Given the description of an element on the screen output the (x, y) to click on. 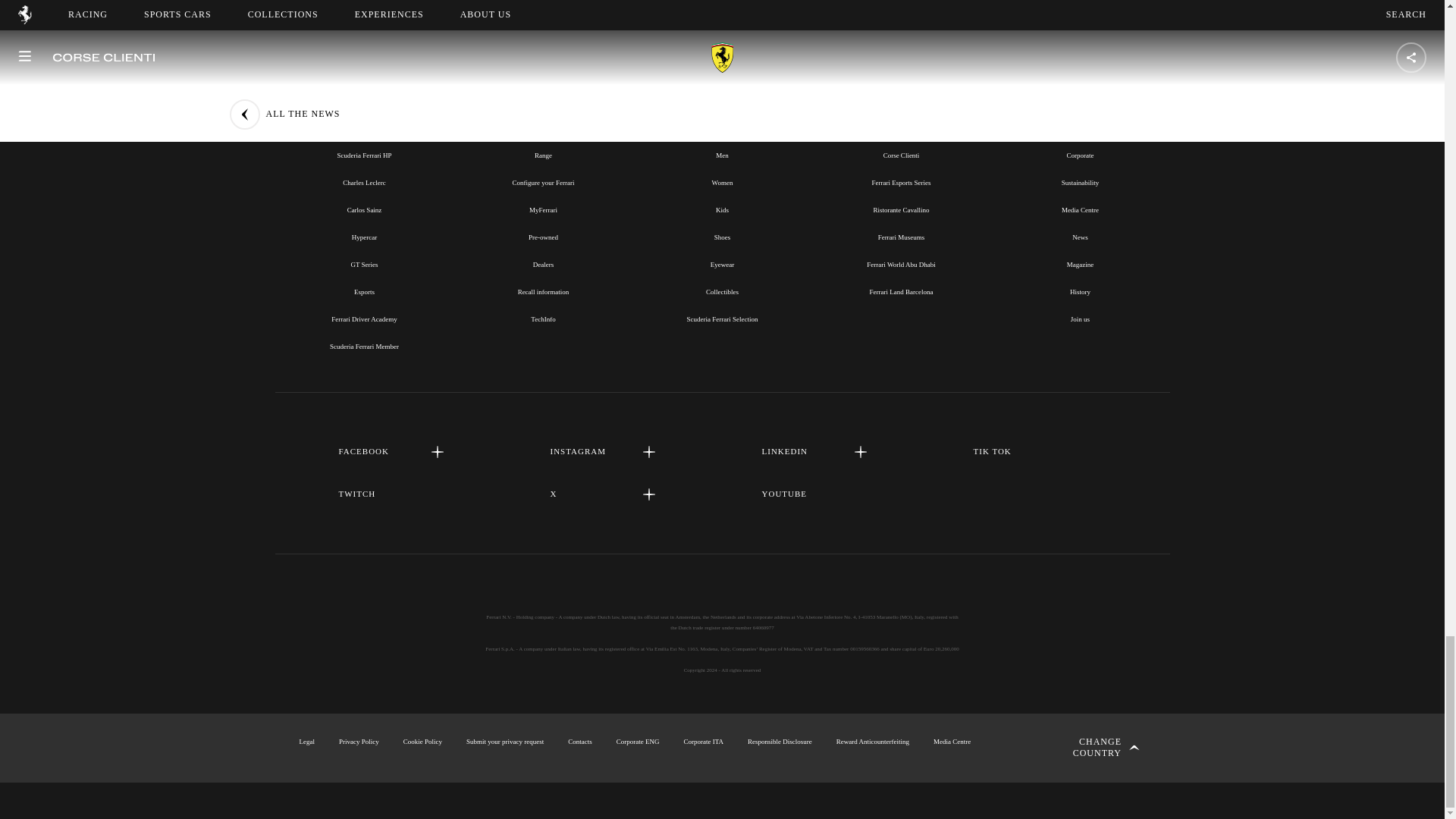
Carlos Sainz (364, 209)
SUBSCRIBE (721, 2)
Esports (363, 291)
Hypercar (364, 236)
Pre-owned (542, 236)
GT Series (363, 264)
RACING (363, 120)
Scuderia Ferrari HP (363, 154)
Change country (1090, 747)
Configure your Ferrari (543, 182)
SPORTS CARS (542, 120)
Scuderia Ferrari Member (364, 346)
MyFerrari (543, 209)
Charles Leclerc (363, 182)
Ferrari Driver Academy (363, 318)
